Given the description of an element on the screen output the (x, y) to click on. 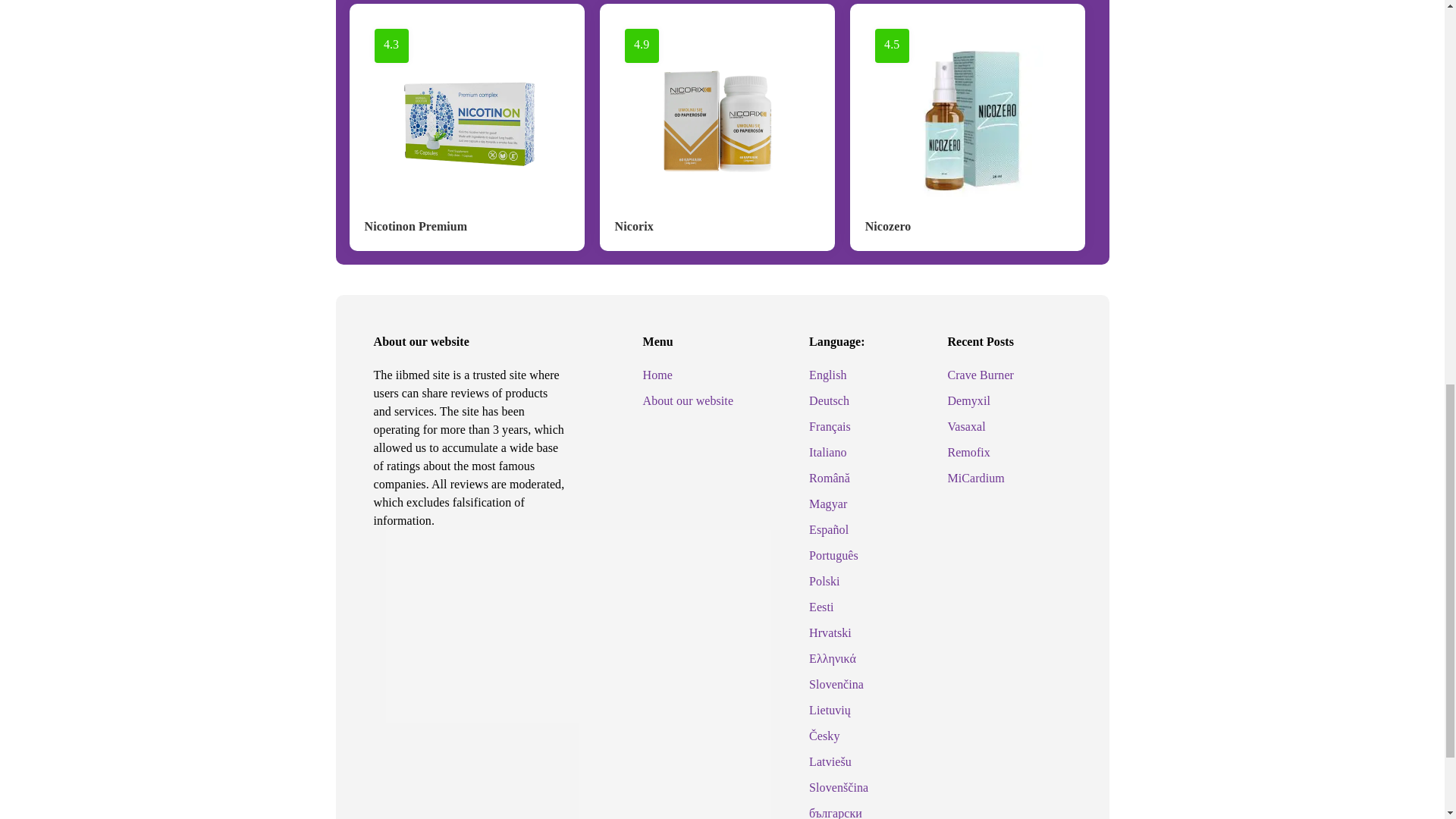
Home (657, 374)
Nicorix (633, 226)
Nicotinon Premium (415, 226)
About our website (688, 400)
